Given the description of an element on the screen output the (x, y) to click on. 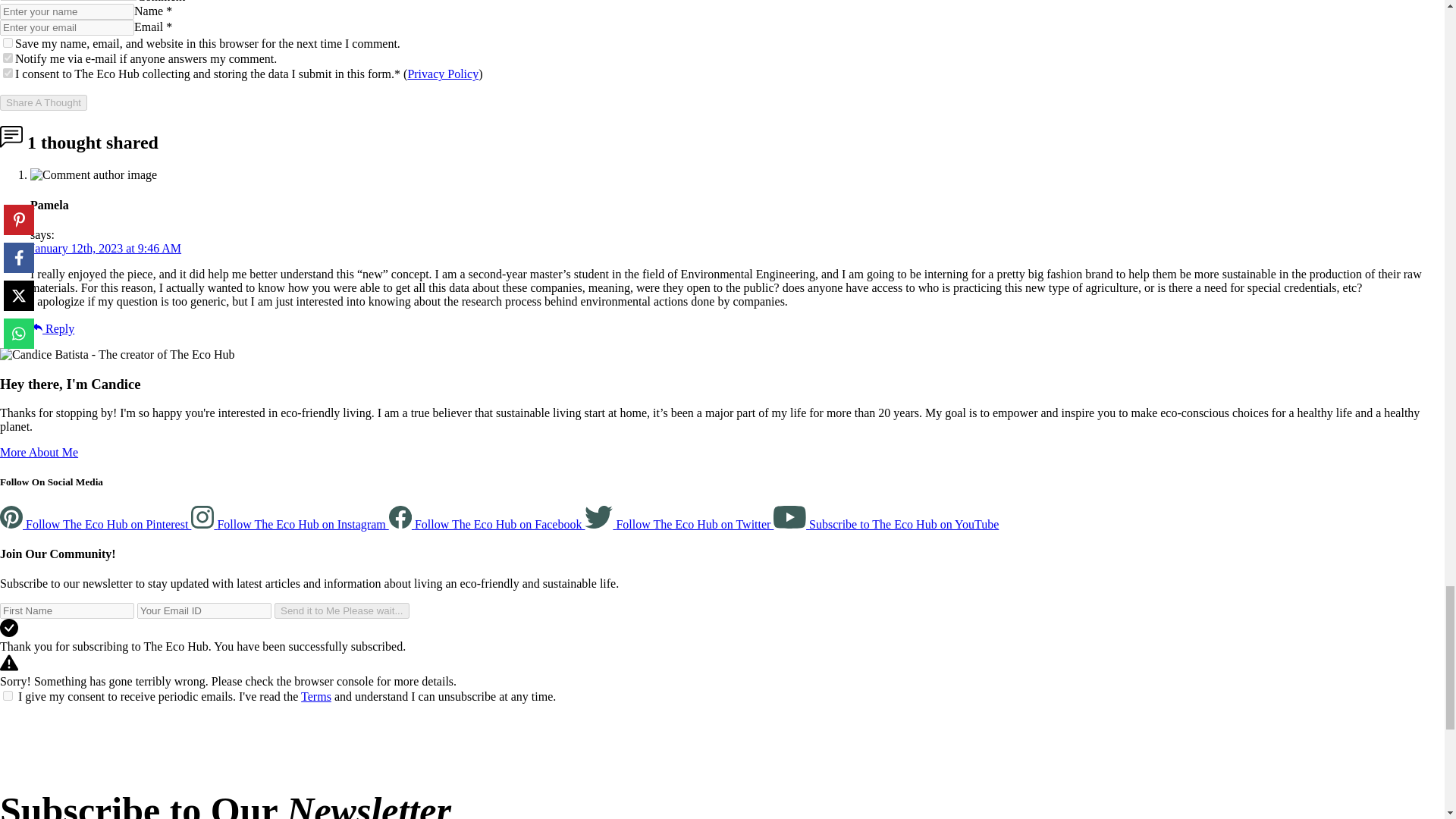
consent-given (7, 696)
Follow The Eco Hub on Pinterest (95, 523)
yes (7, 72)
yes (7, 42)
Check Privacy Policy (443, 73)
Follow The Eco Hub on Facebook (486, 523)
Follow The Eco Hub on Instagram (289, 523)
on (7, 58)
Subscribe to The Eco Hub on YouTube (885, 523)
Follow The Eco Hub on Twitter (679, 523)
